Given the description of an element on the screen output the (x, y) to click on. 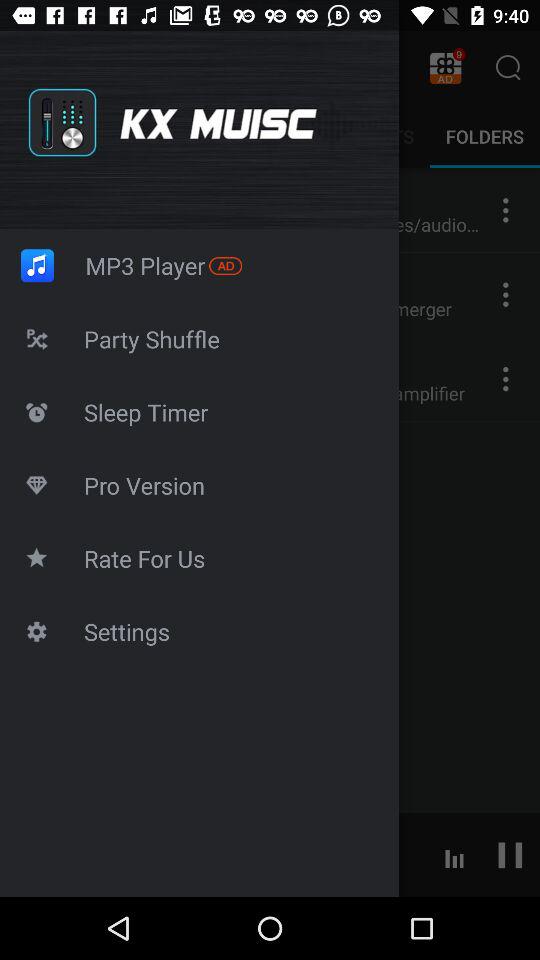
select the ad icon which is above folders (445, 68)
